Given the description of an element on the screen output the (x, y) to click on. 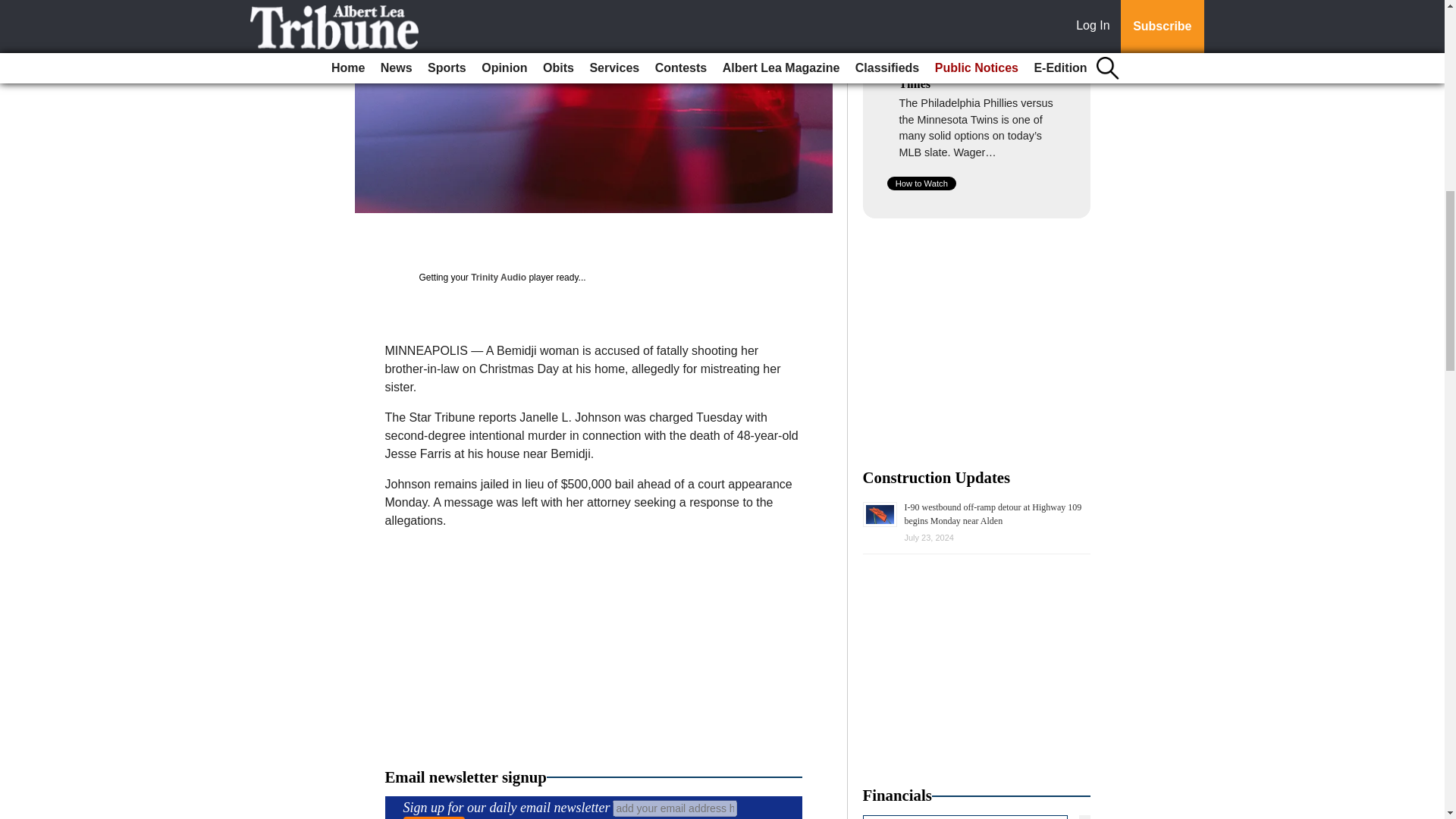
US Market Update (976, 816)
Subscribe (434, 817)
